Given the description of an element on the screen output the (x, y) to click on. 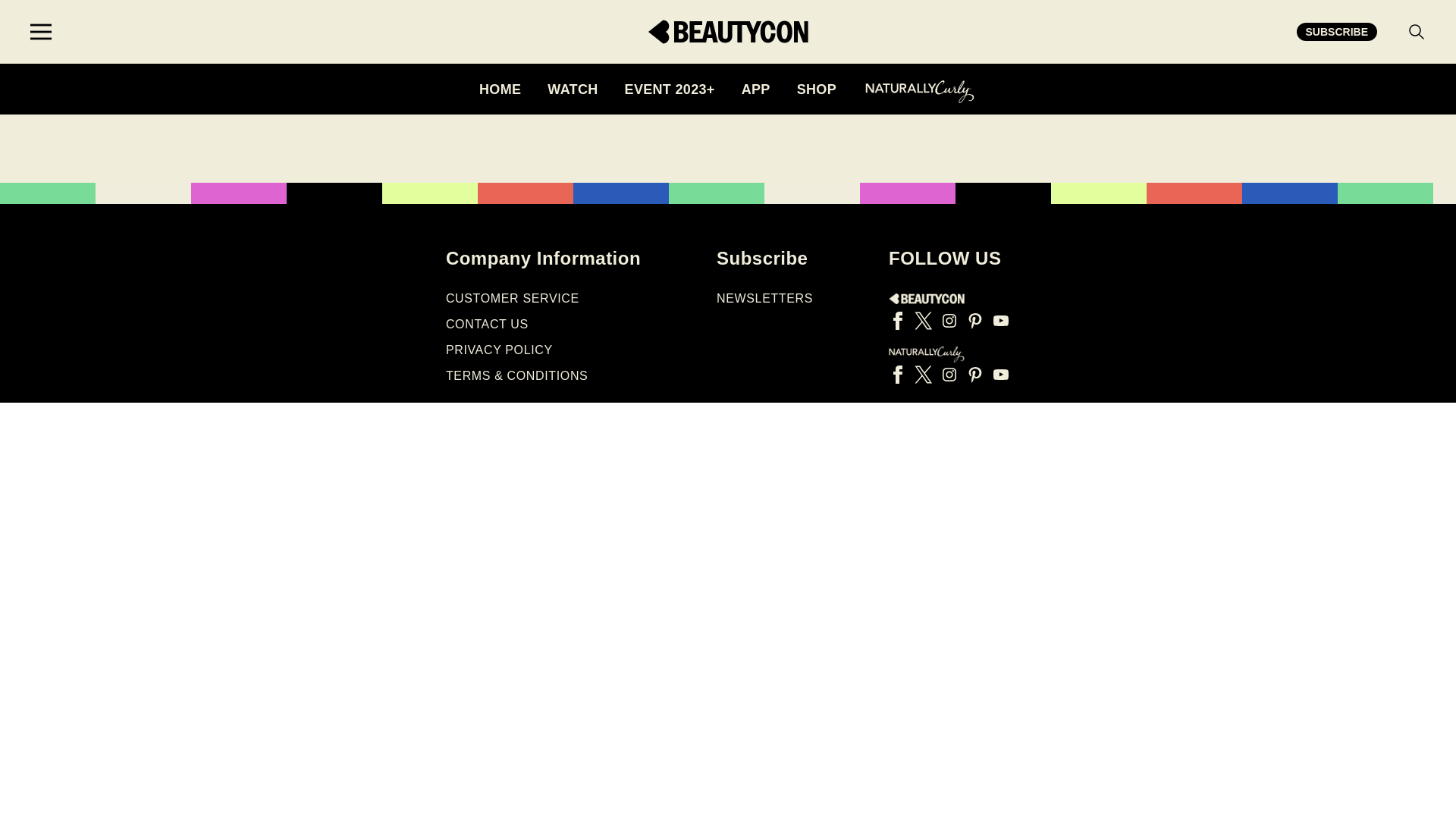
WATCH (571, 88)
CONTACT US (486, 323)
EVENT 2023 (669, 88)
SUBSCRIBE (1337, 31)
HOME (500, 88)
NEWSLETTERS (764, 297)
SHOP (815, 88)
APP (755, 88)
CUSTOMER SERVICE (512, 297)
PRIVACY POLICY (499, 349)
